Given the description of an element on the screen output the (x, y) to click on. 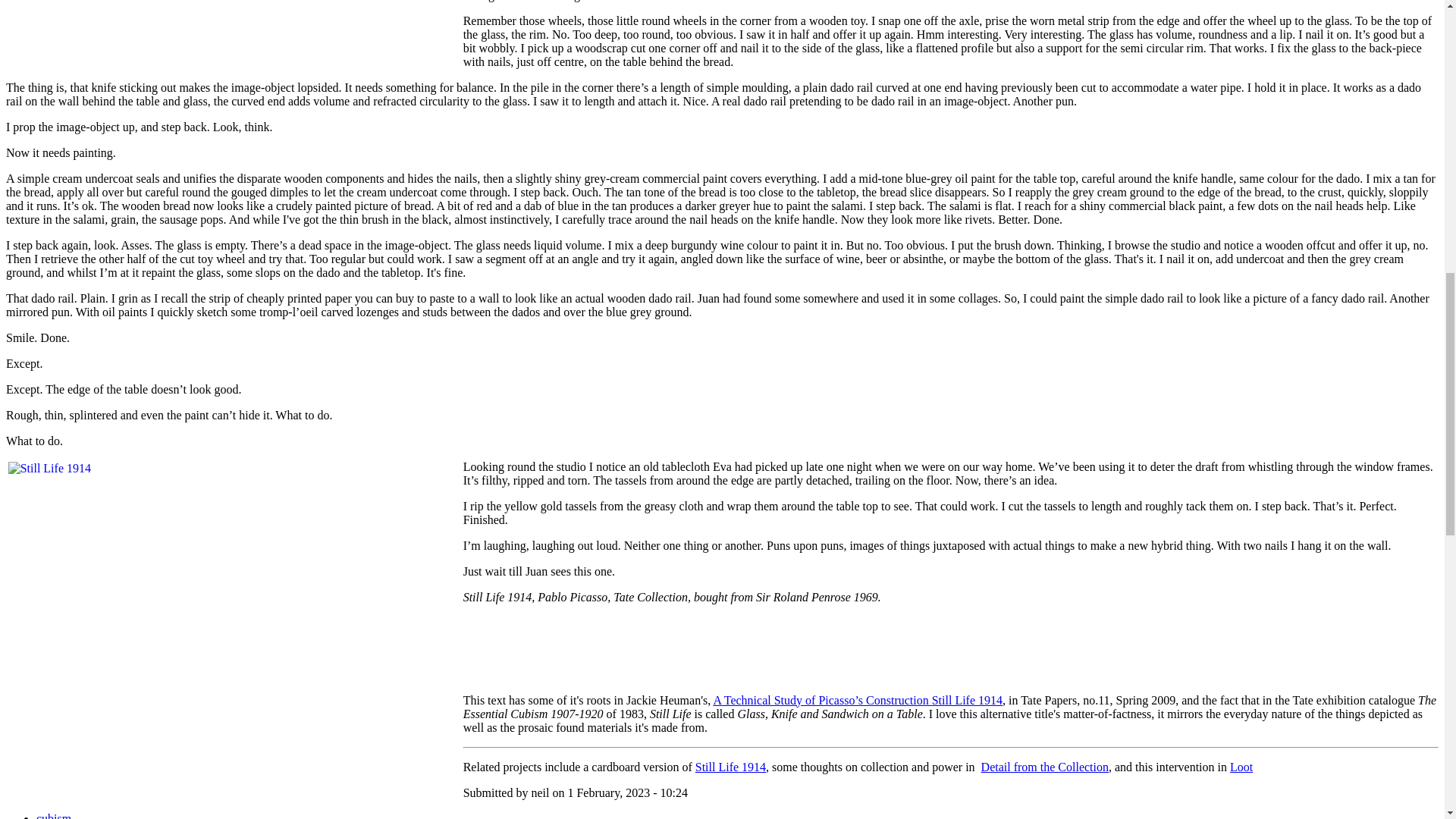
Detail from the Collection (1044, 766)
Wednesday, 1 February, 2023 - 10:24 (627, 792)
Still Life 1914 (730, 766)
cubism (53, 815)
Loot (1241, 766)
